Given the description of an element on the screen output the (x, y) to click on. 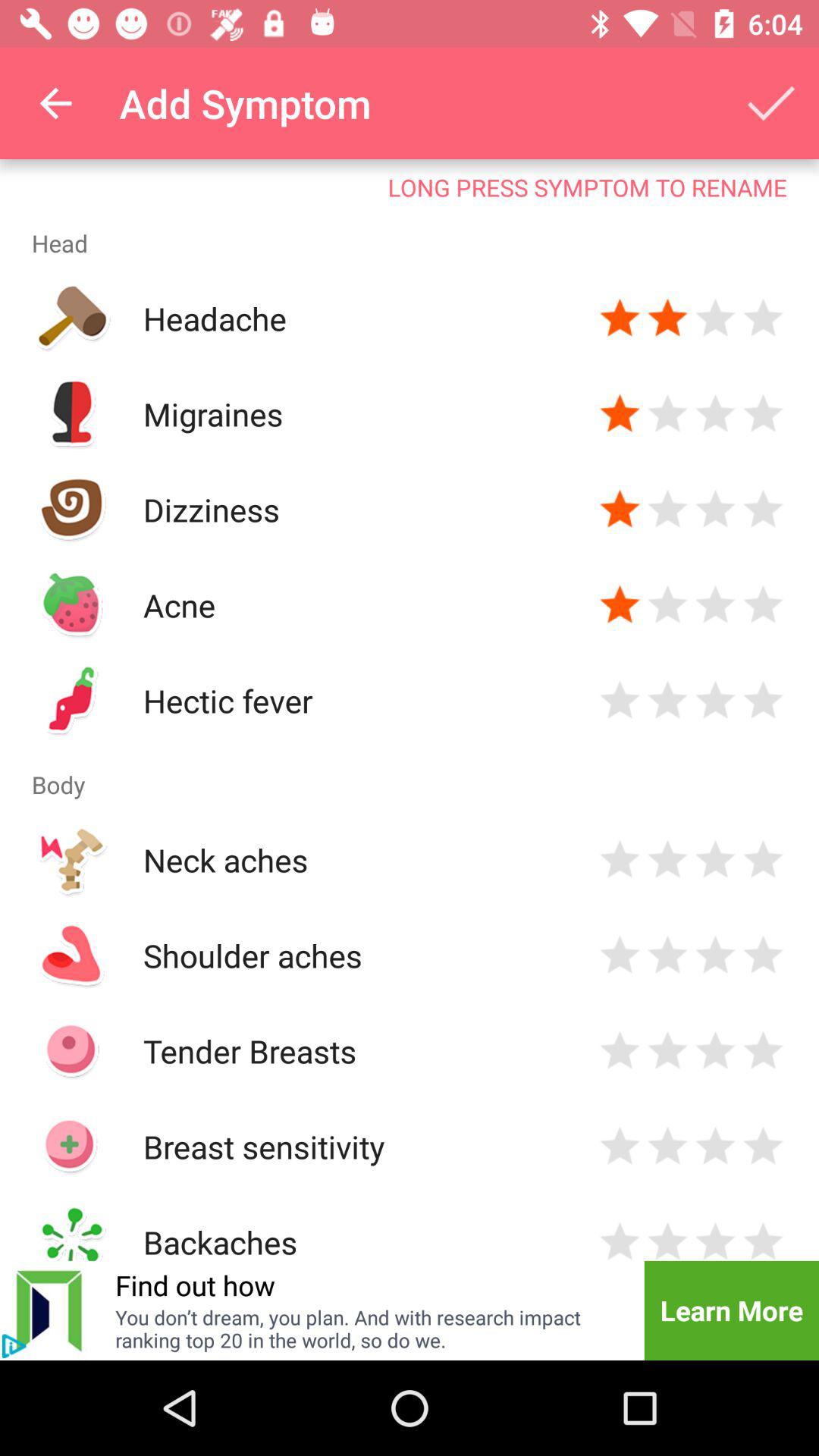
rate symptom severity (667, 318)
